Given the description of an element on the screen output the (x, y) to click on. 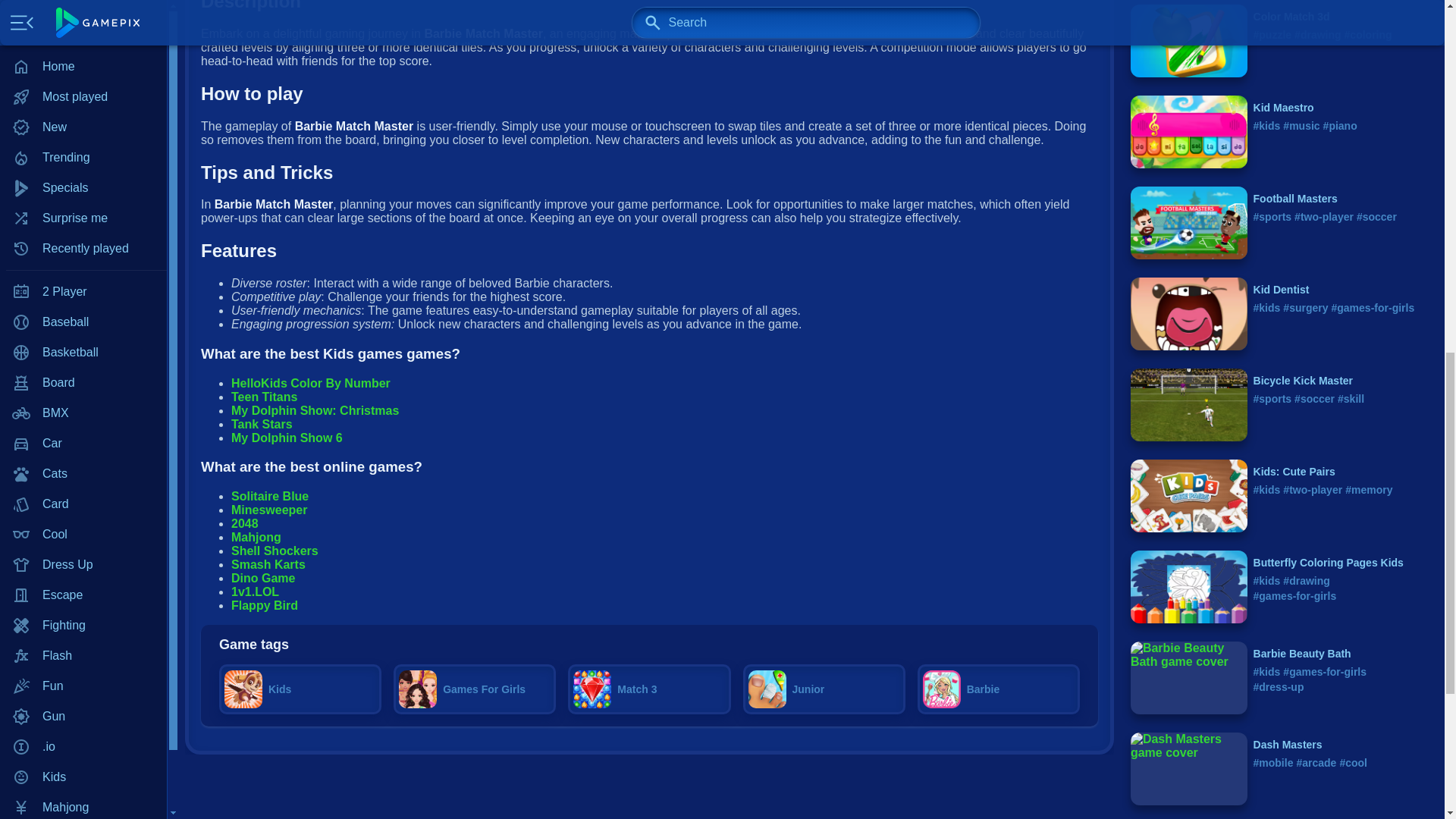
Solitaire (83, 231)
Poker (83, 79)
Shooter (83, 200)
Racing (83, 140)
Zombie (83, 382)
Soccer (83, 291)
War (83, 322)
Puzzle (83, 110)
Word (83, 352)
Mahjong (83, 2)
